Given the description of an element on the screen output the (x, y) to click on. 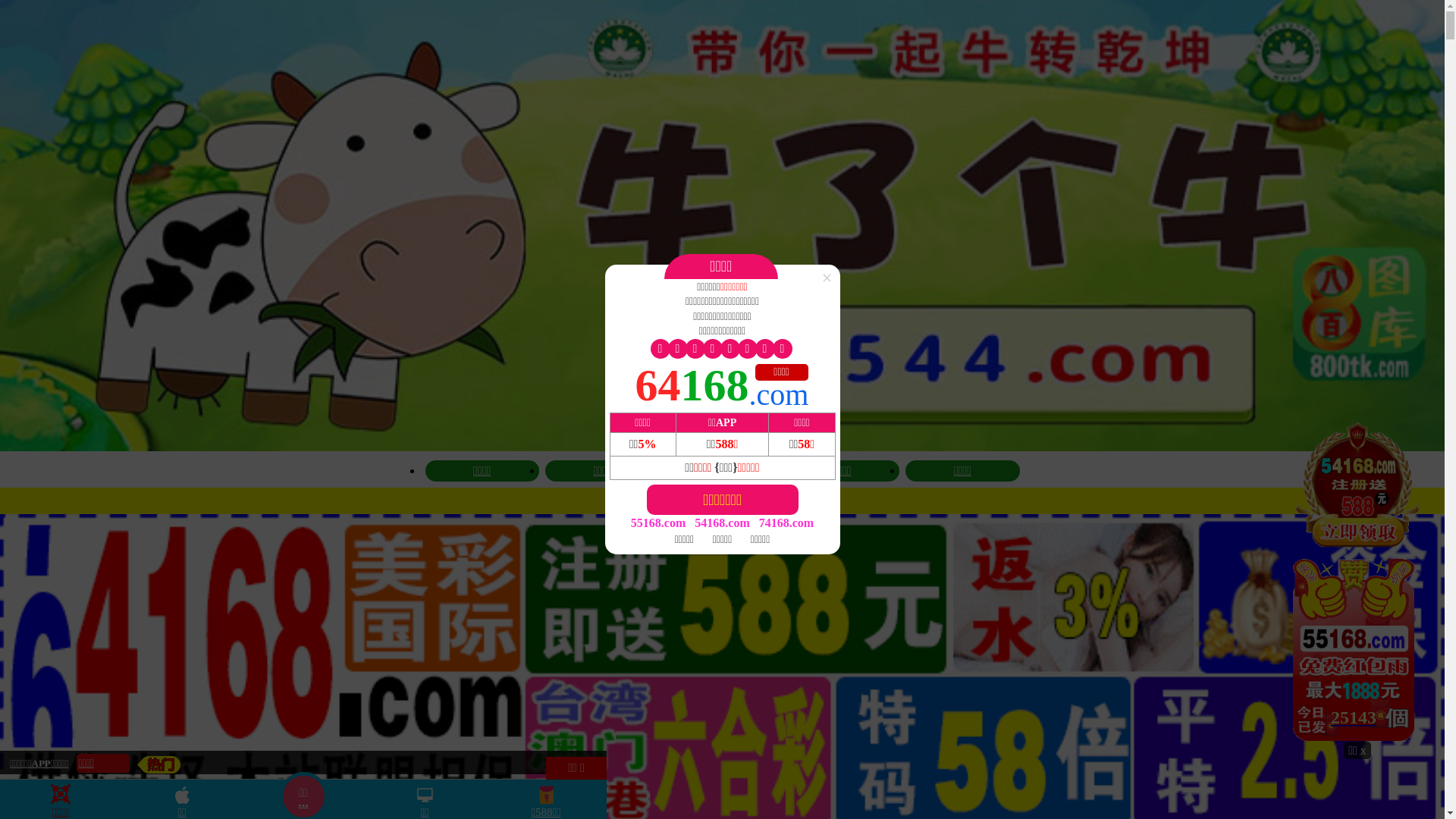
25345 Element type: text (1356, 581)
